Given the description of an element on the screen output the (x, y) to click on. 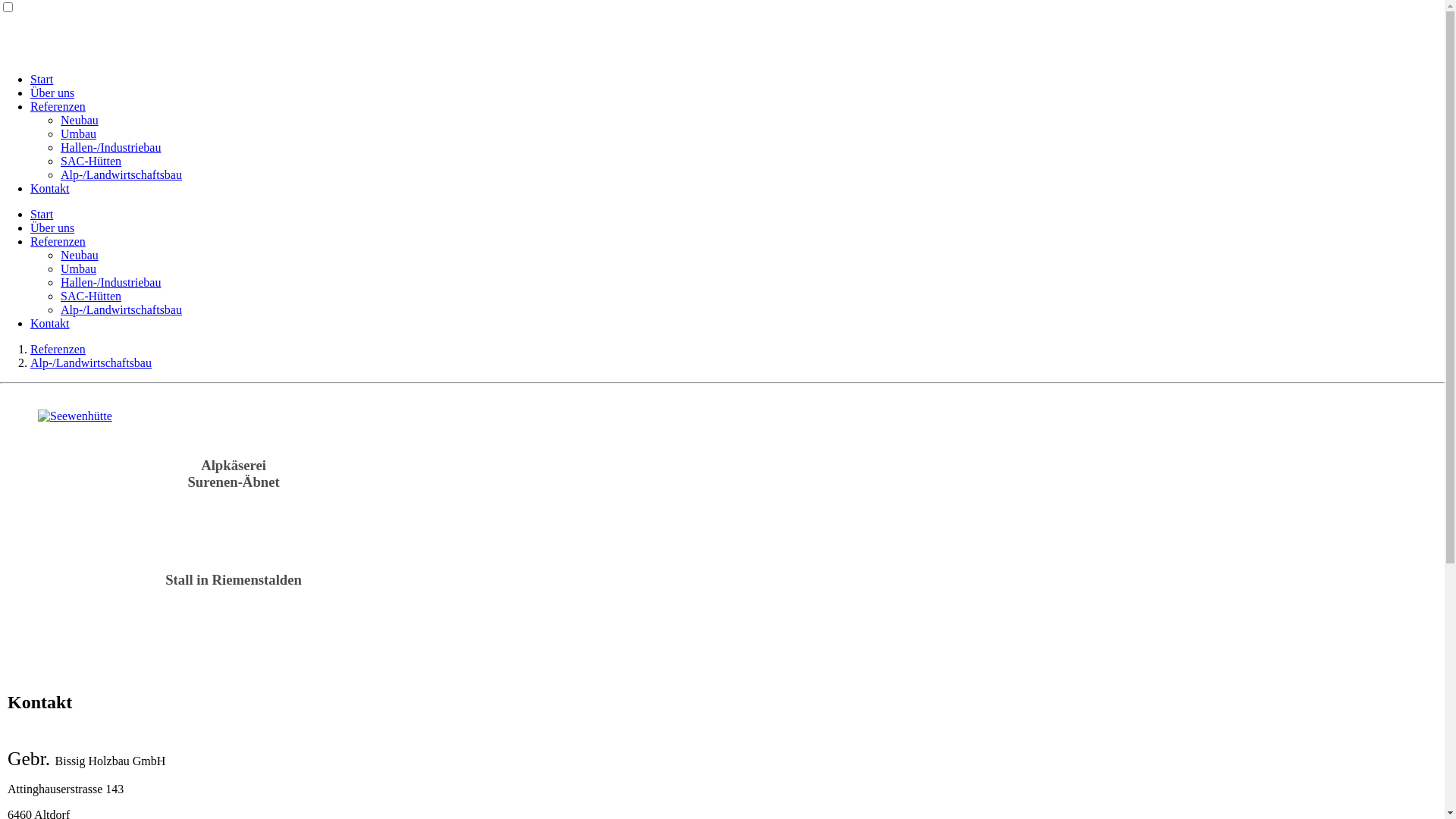
Start Element type: text (41, 213)
Kontakt Element type: text (49, 322)
Alp-/Landwirtschaftsbau Element type: text (121, 174)
Referenzen Element type: text (57, 348)
Kontakt Element type: text (49, 188)
Hallen-/Industriebau Element type: text (110, 282)
Start Element type: text (41, 78)
Neubau Element type: text (79, 119)
Umbau Element type: text (78, 133)
Umbau Element type: text (78, 268)
Referenzen Element type: text (57, 106)
Referenzen Element type: text (57, 241)
Alp-/Landwirtschaftsbau Element type: text (90, 362)
Alp-/Landwirtschaftsbau Element type: text (121, 309)
Neubau Element type: text (79, 254)
Hallen-/Industriebau Element type: text (110, 147)
